Given the description of an element on the screen output the (x, y) to click on. 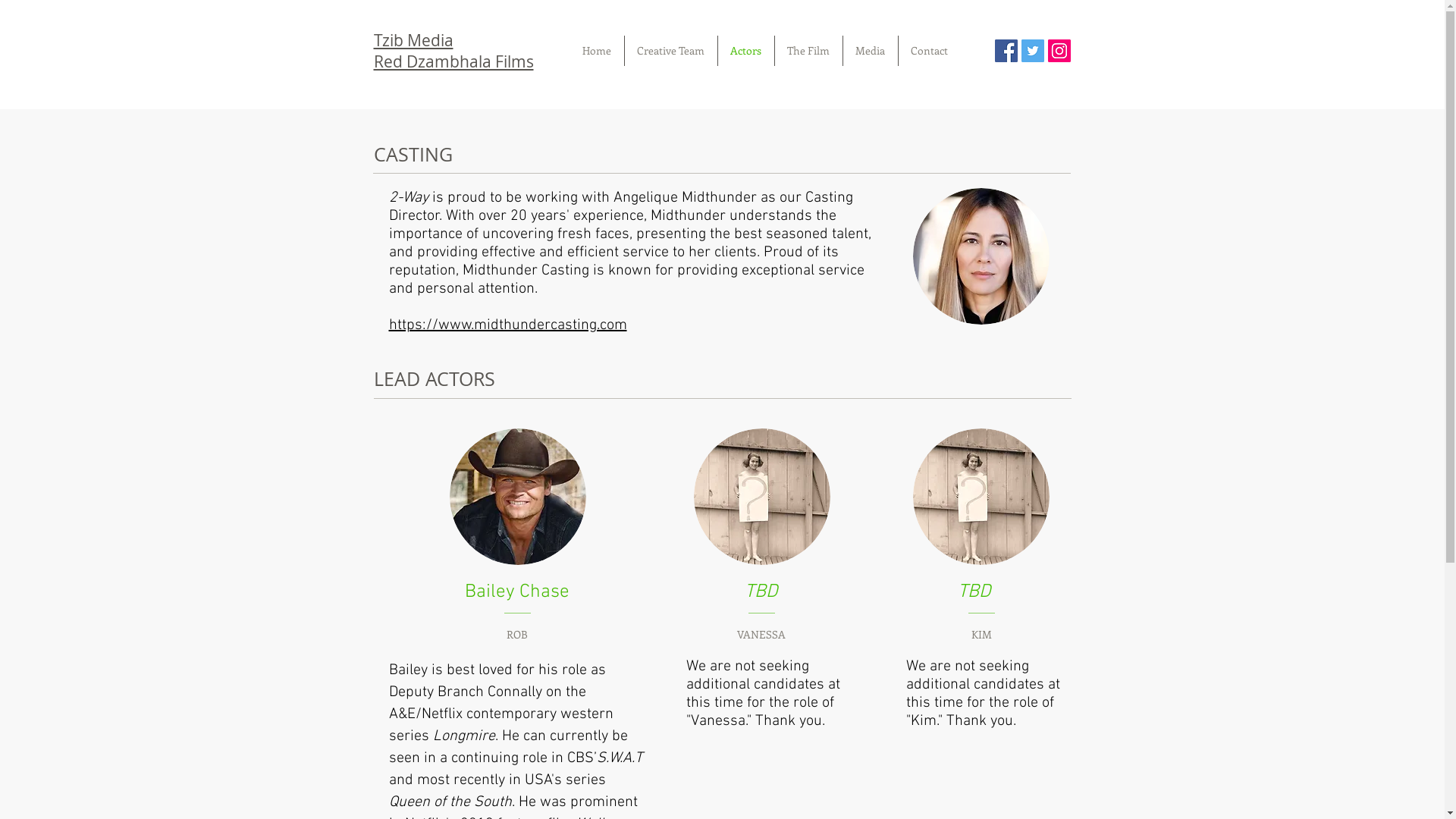
Home Element type: text (597, 50)
Red Dzambhala Films Element type: text (453, 61)
Media Element type: text (870, 50)
Contact Element type: text (928, 50)
Tzib Media Element type: text (412, 39)
The Film Element type: text (808, 50)
https://www.midthundercasting.com Element type: text (507, 325)
Creative Team Element type: text (670, 50)
Actors Element type: text (745, 50)
